Given the description of an element on the screen output the (x, y) to click on. 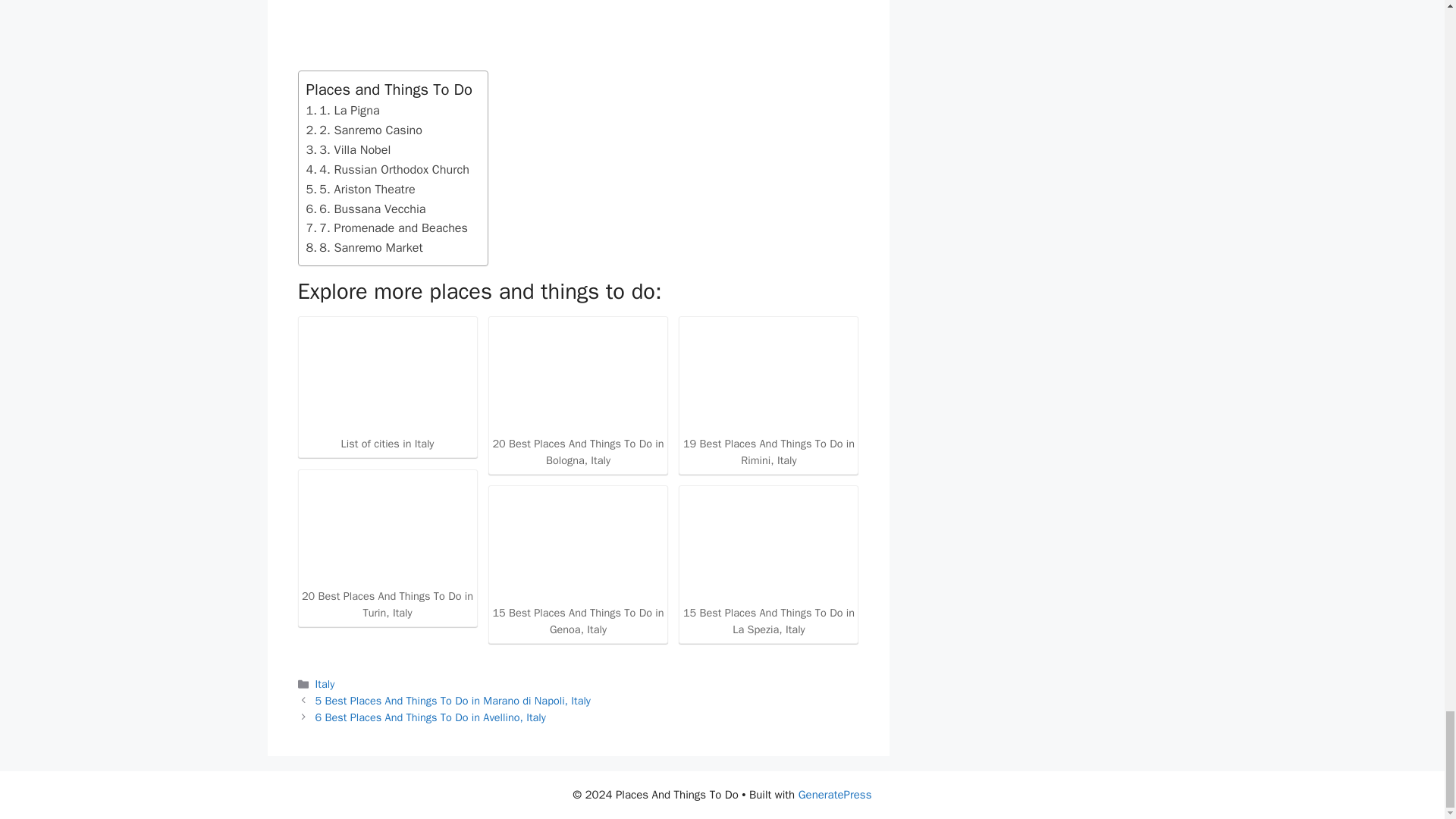
1. La Pigna (342, 110)
6. Bussana Vecchia (365, 209)
5. Ariston Theatre (359, 189)
20 Best Places And Things To Do in Turin, Italy (387, 529)
2. Sanremo Casino (363, 130)
5. Ariston Theatre (359, 189)
List of cities in Italy (387, 376)
15 Best Places And Things To Do in Genoa, Italy (577, 544)
Italy (324, 684)
6. Bussana Vecchia (365, 209)
List of cities in Italy (386, 388)
8. Sanremo Market (364, 247)
4. Russian Orthodox Church (386, 169)
7. Promenade and Beaches (386, 228)
20 Best Places And Things To Do in Turin, Italy (386, 549)
